Given the description of an element on the screen output the (x, y) to click on. 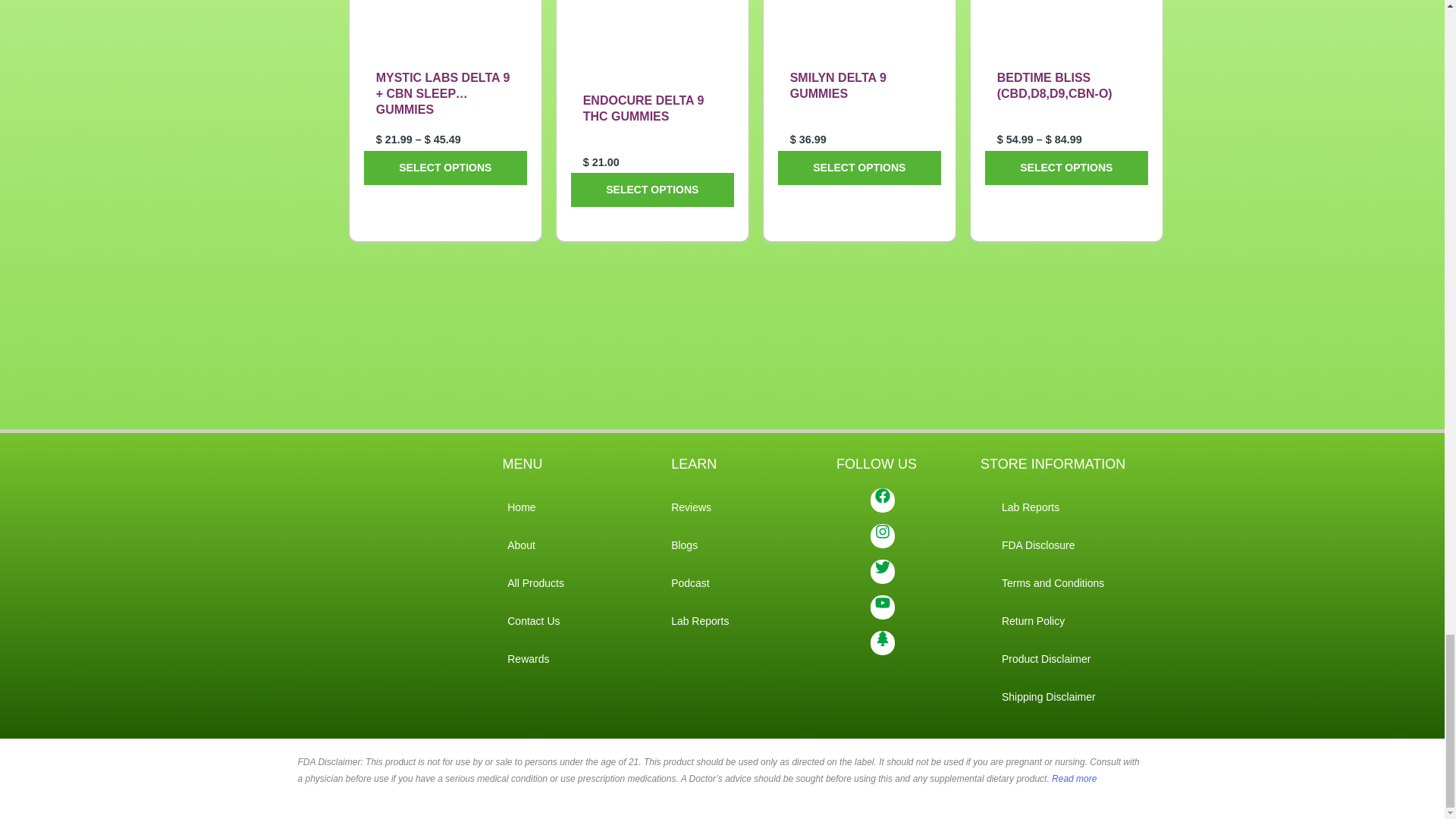
SELECT OPTIONS (445, 167)
SELECT OPTIONS (858, 167)
SELECT OPTIONS (651, 189)
ENDOCURE DELTA 9 THC GUMMIES (651, 130)
All Products (535, 582)
Rewards (535, 658)
Home (535, 507)
SELECT OPTIONS (1066, 167)
SMILYN DELTA 9 GUMMIES (858, 107)
About (535, 545)
Contact Us (535, 620)
